Given the description of an element on the screen output the (x, y) to click on. 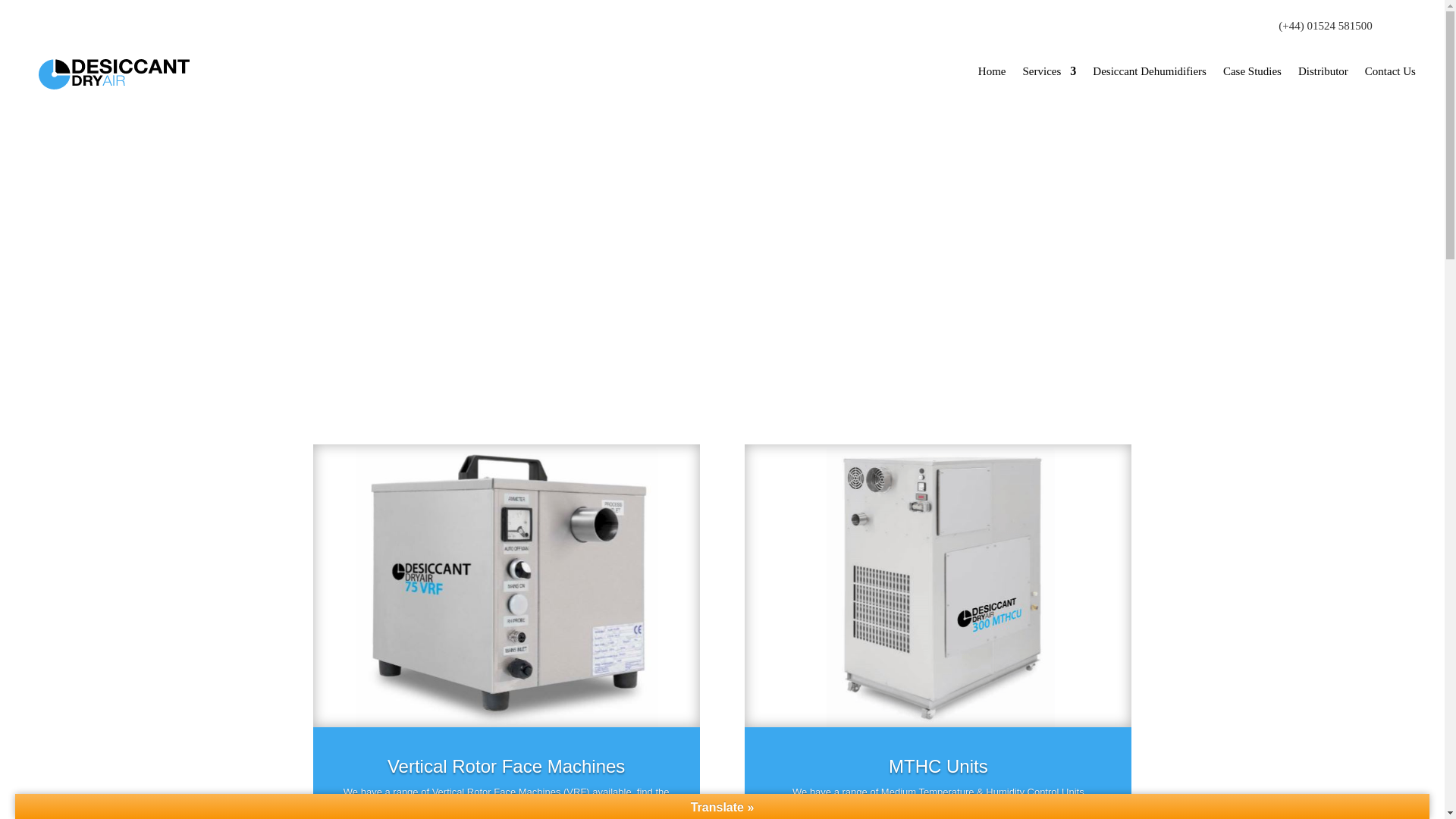
Desiccant Dehumidifiers (1150, 70)
vrf machine (505, 585)
Services (1050, 70)
mtchu (937, 585)
Case Studies (1252, 70)
